Given the description of an element on the screen output the (x, y) to click on. 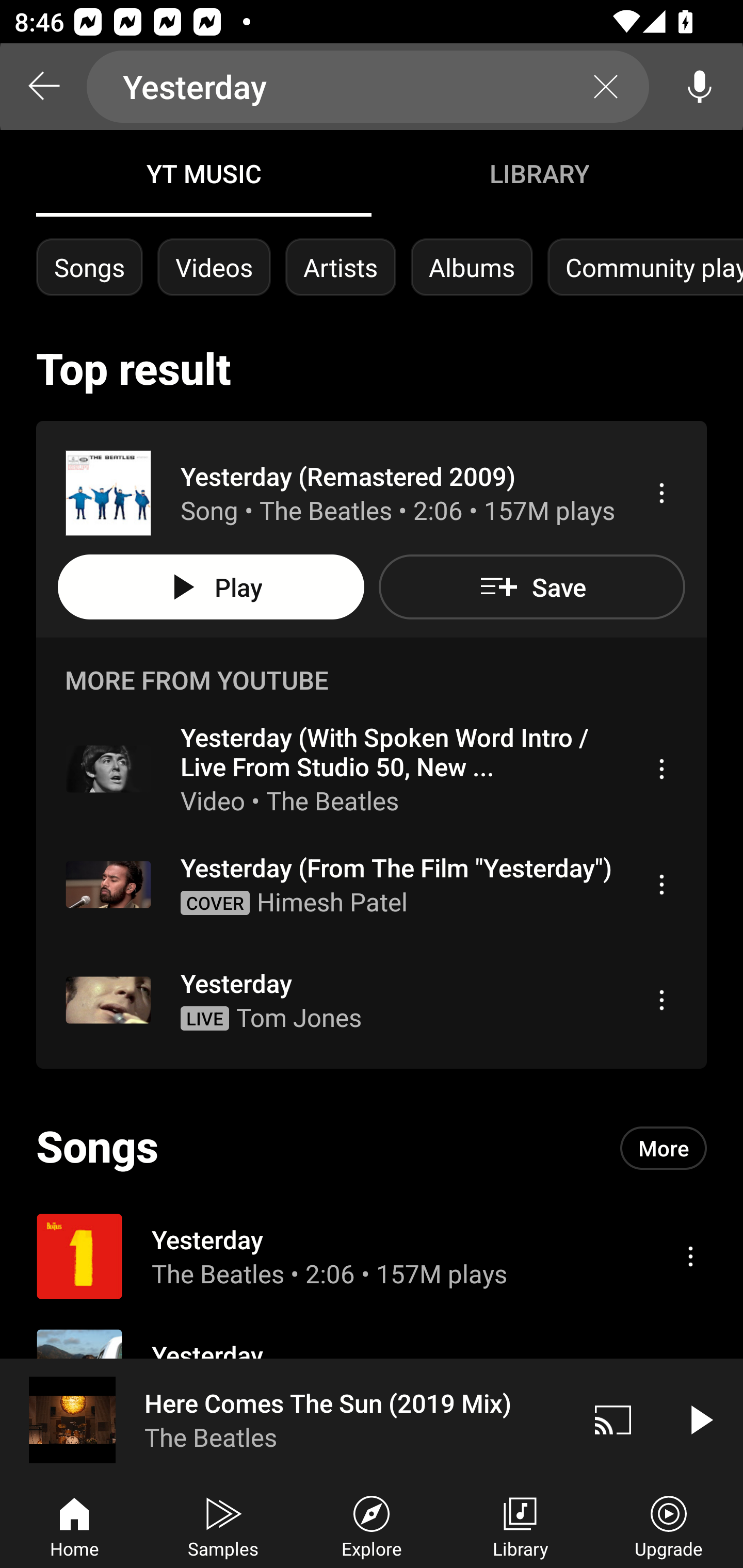
Search back (43, 86)
Yesterday (367, 86)
Clear search (605, 86)
Voice search (699, 86)
Library LIBRARY (538, 173)
Menu (661, 492)
Play PLAY ALL (210, 587)
Save Save to playlist (531, 587)
Menu (661, 768)
Menu (661, 884)
Menu (661, 1000)
Songs More More (371, 1147)
More (663, 1147)
Menu (690, 1255)
Here Comes The Sun (2019 Mix) The Beatles (284, 1419)
Cast. Disconnected (612, 1419)
Play video (699, 1419)
Home (74, 1524)
Samples (222, 1524)
Explore (371, 1524)
Library (519, 1524)
Upgrade (668, 1524)
